Given the description of an element on the screen output the (x, y) to click on. 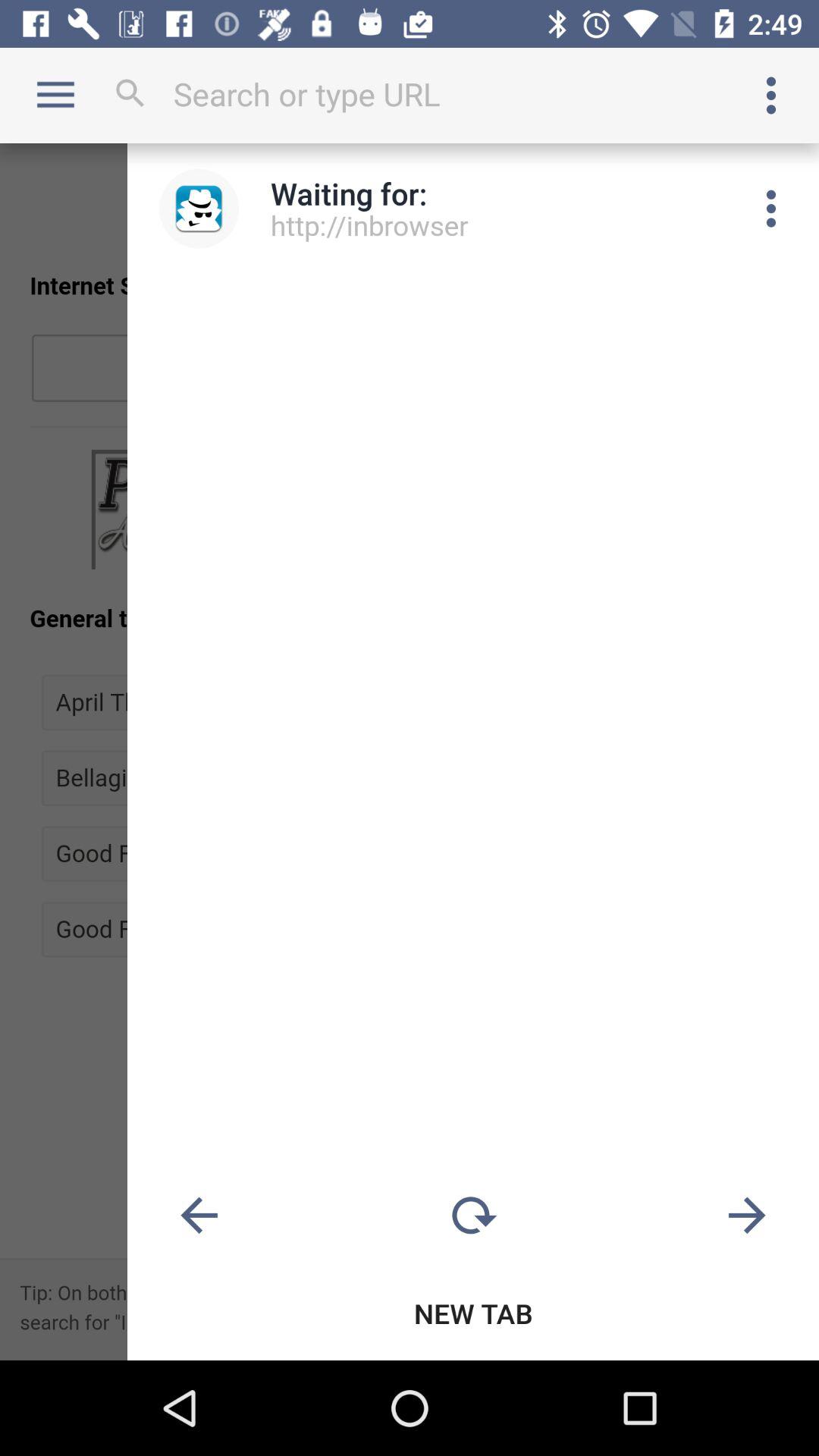
press item to the right of http://inbrowser (771, 208)
